Given the description of an element on the screen output the (x, y) to click on. 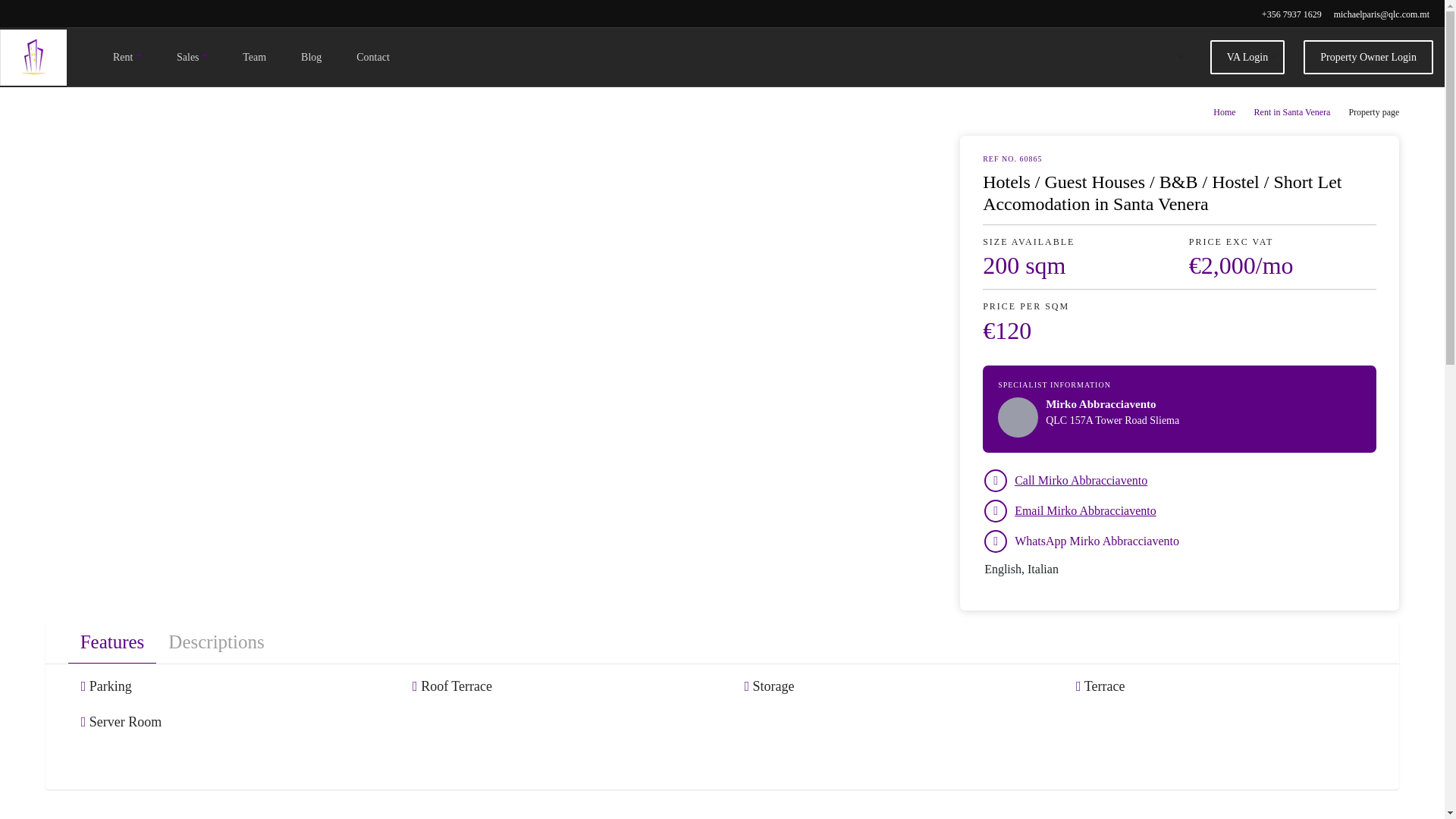
Rent (127, 57)
Contact (373, 57)
Blog (311, 57)
Rent in Santa Venera (1291, 112)
Team (253, 57)
Property Owner Login (1367, 57)
VA Login (1247, 57)
Property page (1373, 112)
Sales (192, 57)
Home (1223, 112)
